Given the description of an element on the screen output the (x, y) to click on. 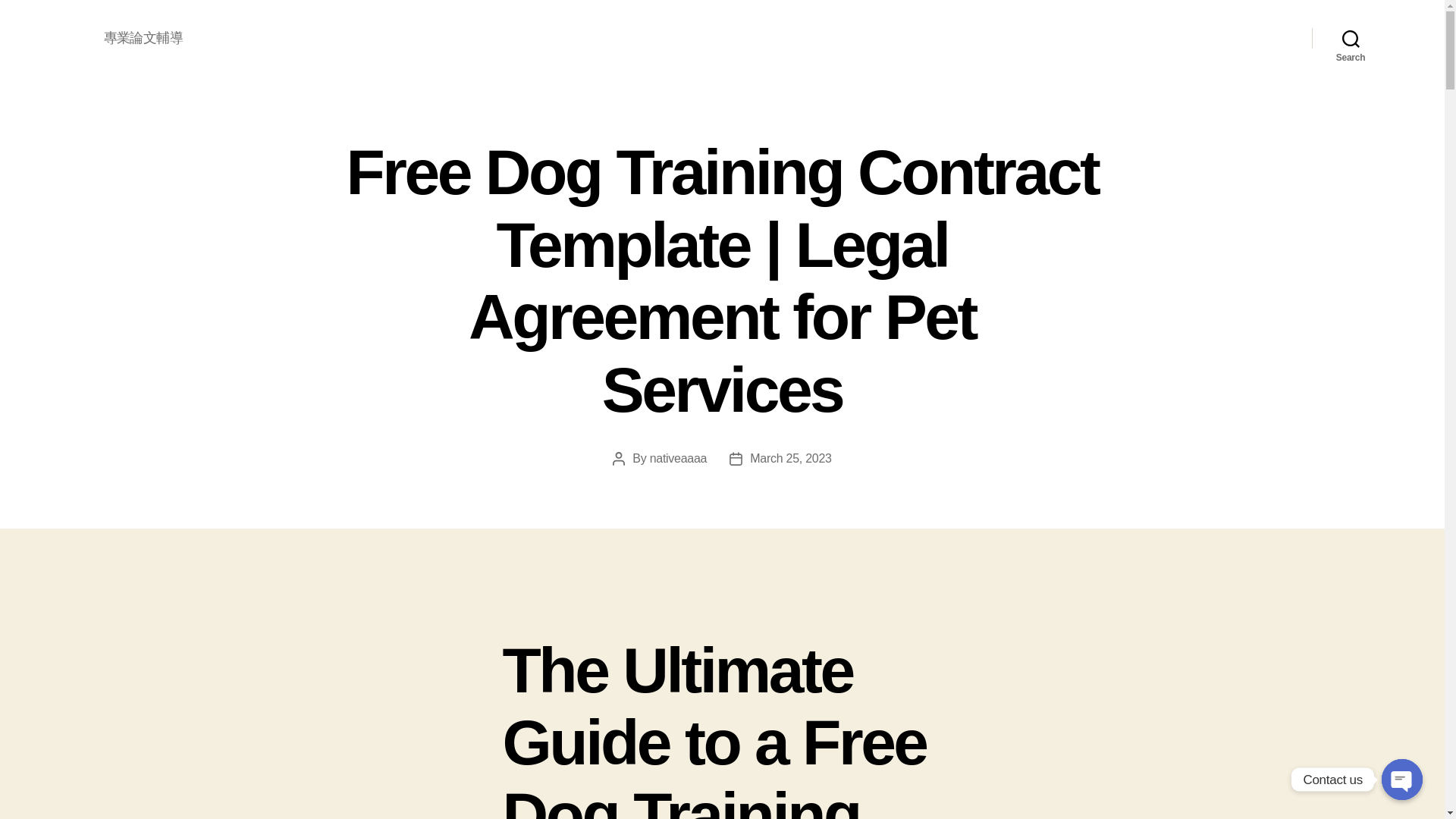
nativeaaaa (678, 458)
Search (1350, 37)
March 25, 2023 (790, 458)
